Given the description of an element on the screen output the (x, y) to click on. 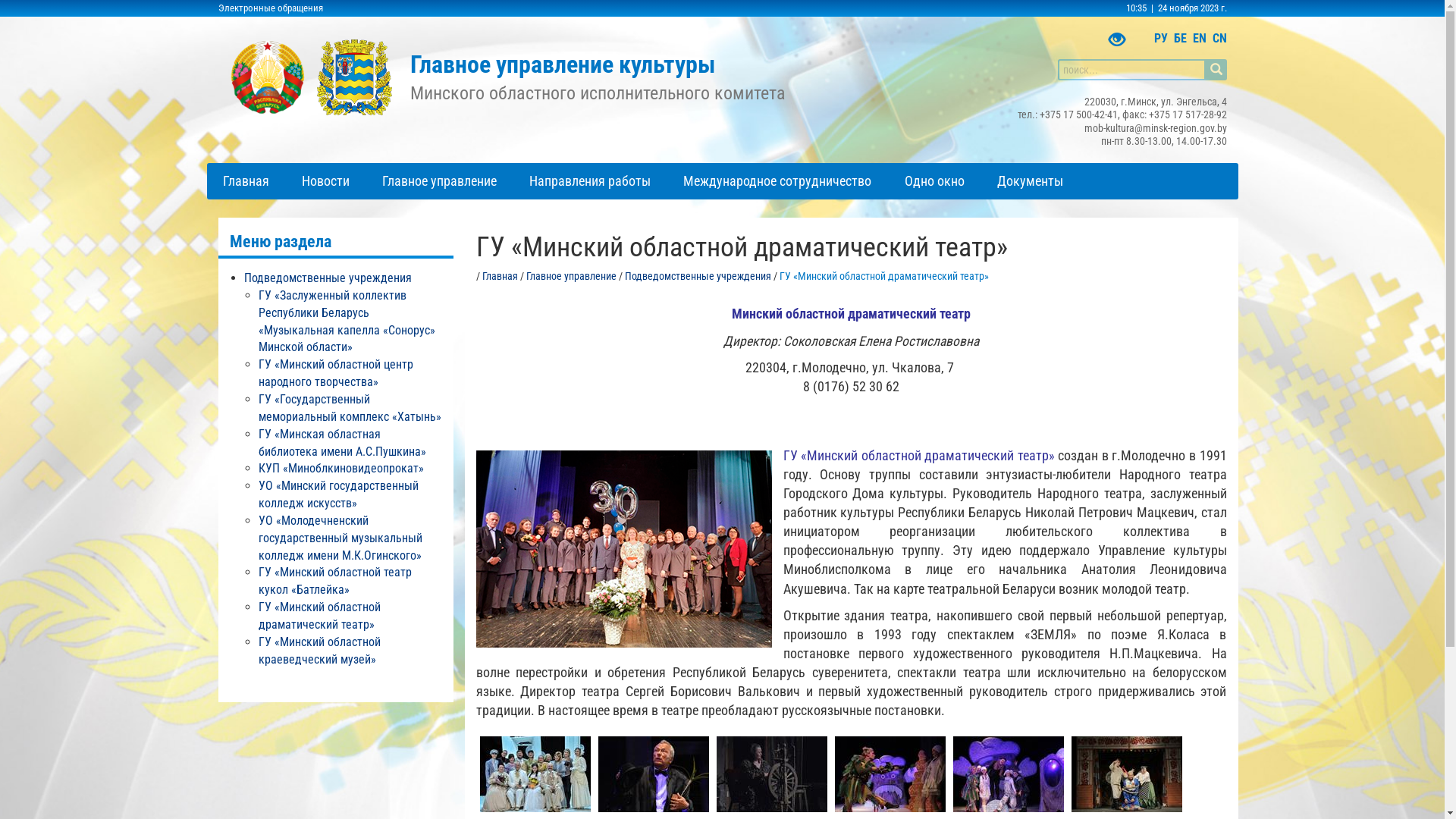
EN Element type: text (1198, 38)
CN Element type: text (1218, 38)
